Given the description of an element on the screen output the (x, y) to click on. 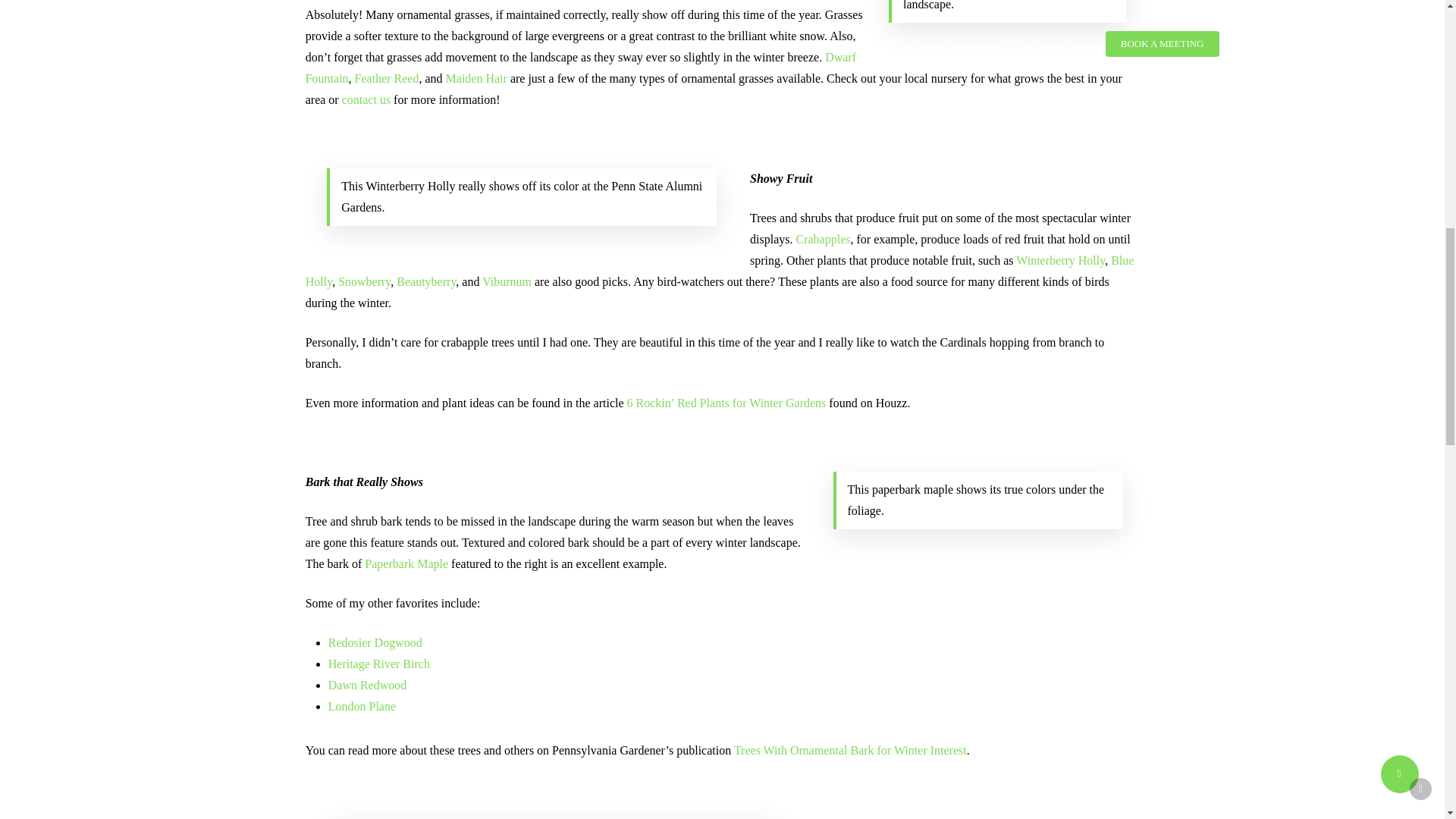
Maiden Hair (475, 78)
Crabapples (823, 238)
contact us (366, 99)
Winterberry Holly (1060, 259)
Snowberry (363, 281)
Dwarf Fountain (580, 67)
Feather Reed (387, 78)
Blue Holly (719, 270)
Beautyberry (425, 281)
